Given the description of an element on the screen output the (x, y) to click on. 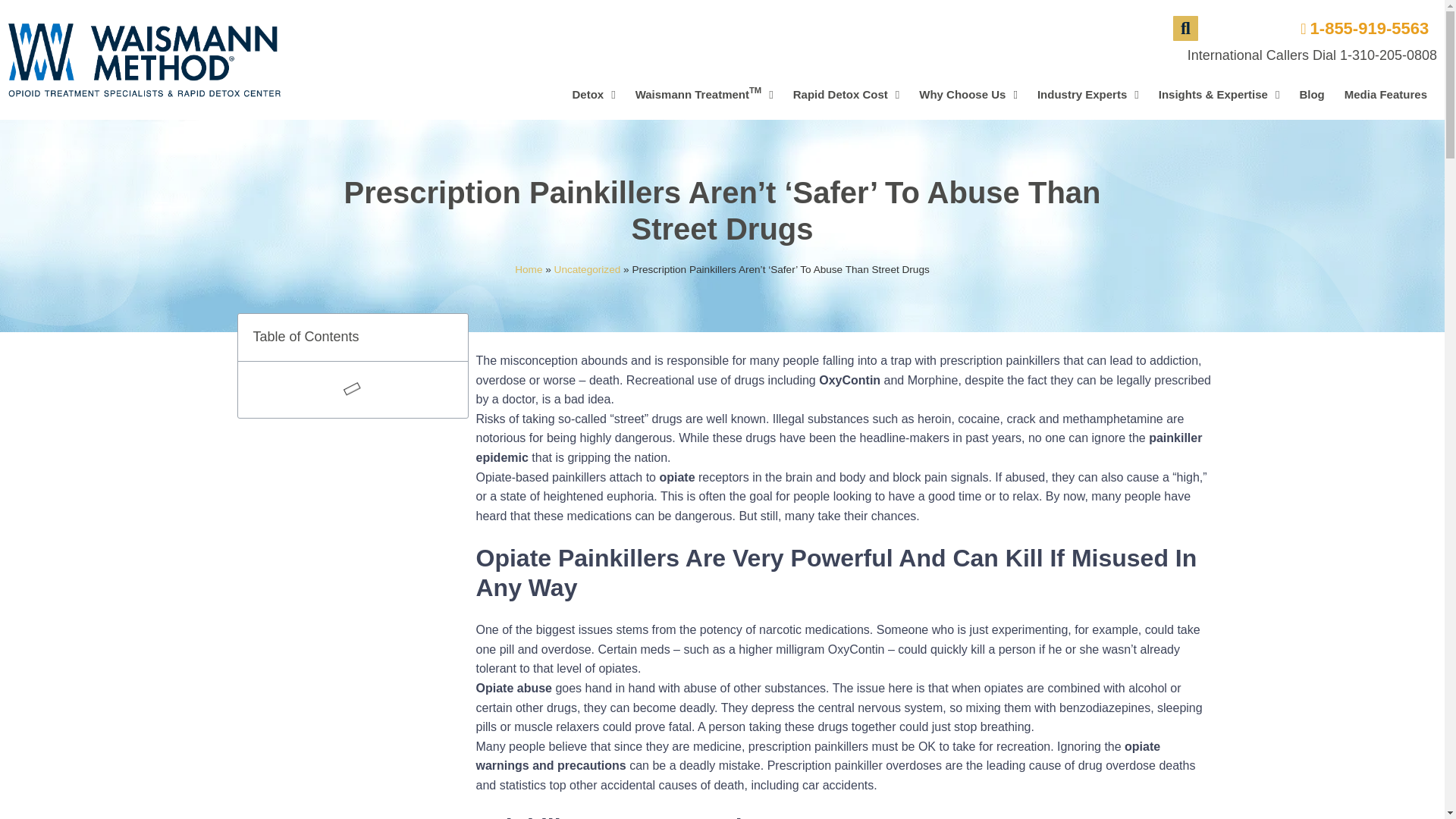
Detox (593, 94)
1-855-919-5563 (1358, 27)
Rapid Detox Cost (704, 94)
1-310-205-0808 (846, 94)
Why Choose Us (1388, 55)
